Given the description of an element on the screen output the (x, y) to click on. 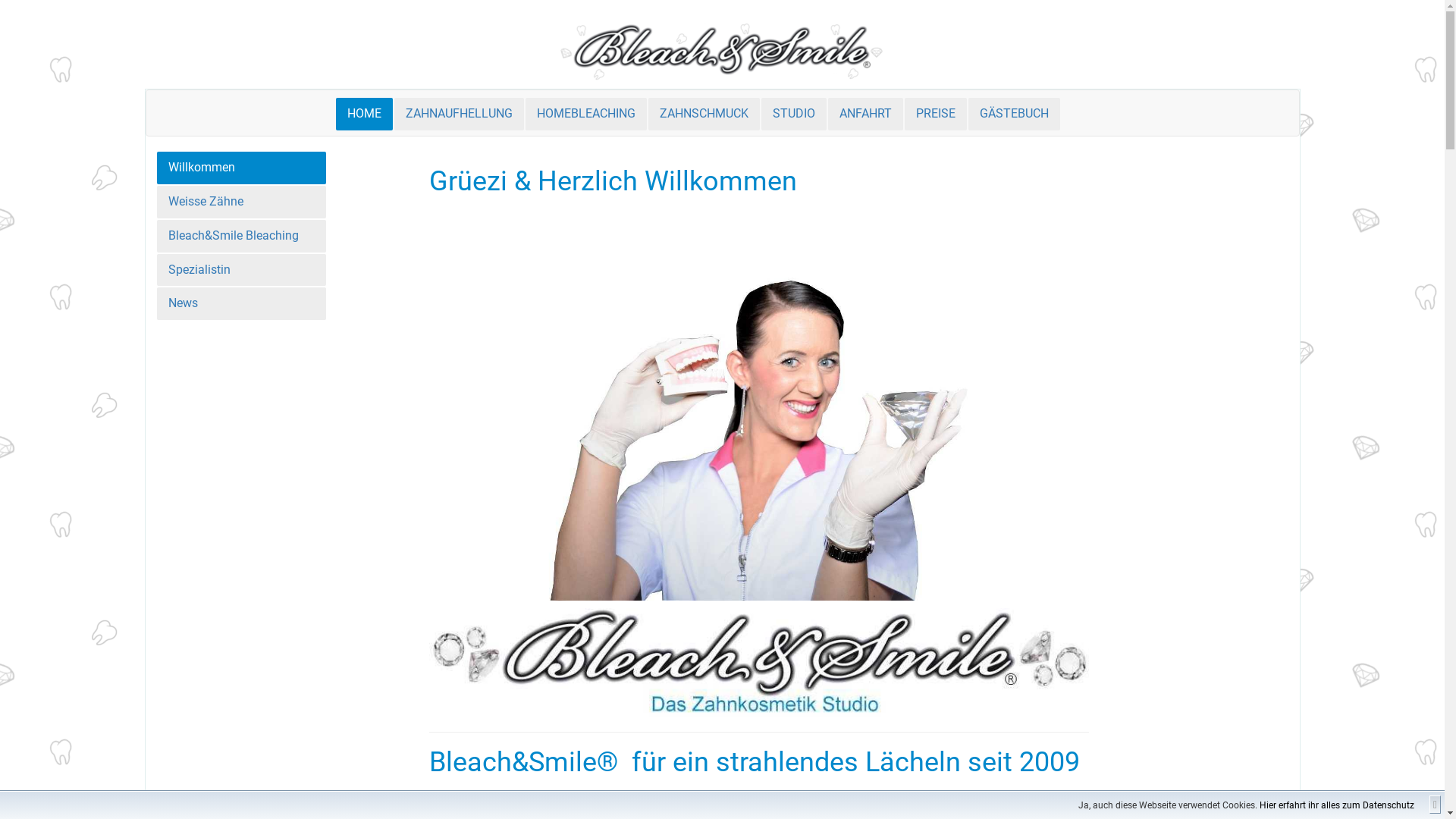
ZAHNSCHMUCK Element type: text (703, 113)
ZAHNAUFHELLUNG Element type: text (459, 113)
Willkommen Element type: text (241, 167)
STUDIO Element type: text (793, 113)
Spezialistin Element type: text (241, 270)
Hier erfahrt ihr alles zum Datenschutz Element type: text (1336, 805)
PREISE Element type: text (934, 113)
HOME Element type: text (363, 113)
Bleach&Smile Bleaching Element type: text (241, 235)
ANFAHRT Element type: text (865, 113)
News Element type: text (241, 303)
HOMEBLEACHING Element type: text (585, 113)
